Given the description of an element on the screen output the (x, y) to click on. 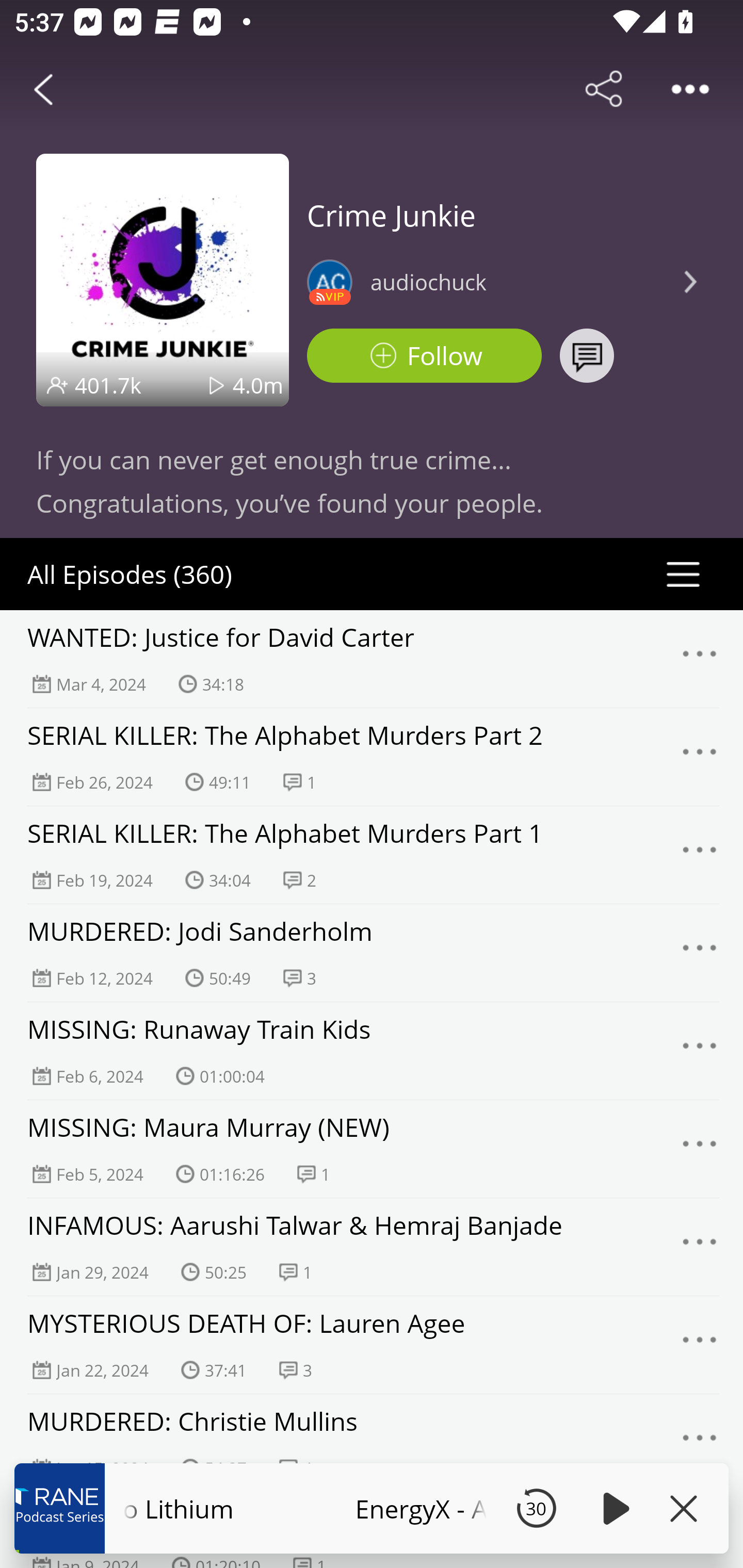
Back (43, 88)
Podbean Follow (423, 355)
401.7k (108, 384)
Menu (699, 659)
Menu (699, 757)
Menu (699, 855)
Menu (699, 953)
Menu (699, 1051)
Menu (699, 1149)
Menu (699, 1247)
Menu (699, 1345)
Menu (699, 1443)
Play (613, 1507)
30 Seek Backward (536, 1508)
